Given the description of an element on the screen output the (x, y) to click on. 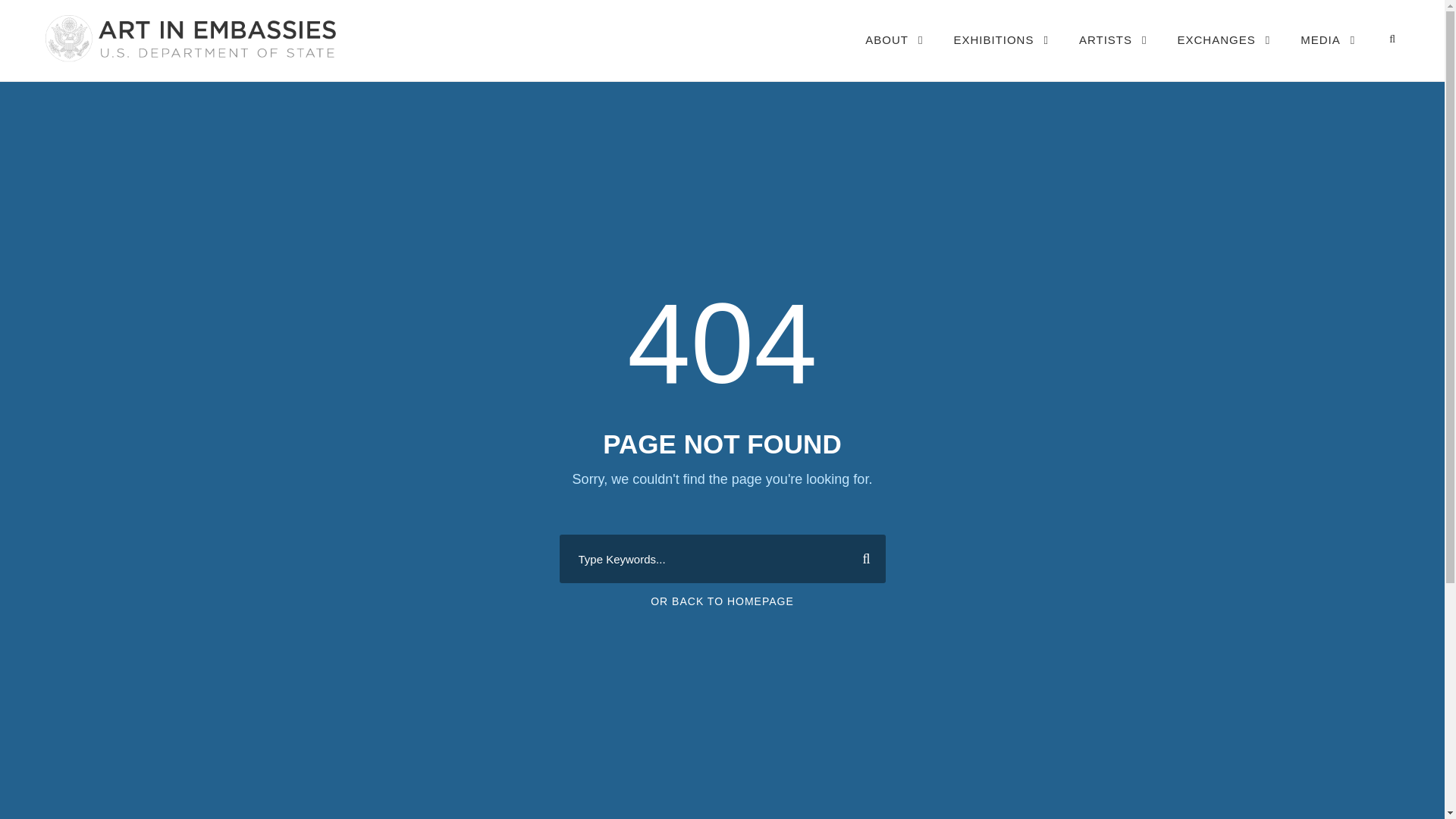
MEDIA (1327, 55)
aie logo3 (188, 38)
Search (860, 558)
ABOUT (893, 55)
OR BACK TO HOMEPAGE (721, 601)
EXCHANGES (1224, 55)
ARTISTS (1112, 55)
EXHIBITIONS (1000, 55)
